Given the description of an element on the screen output the (x, y) to click on. 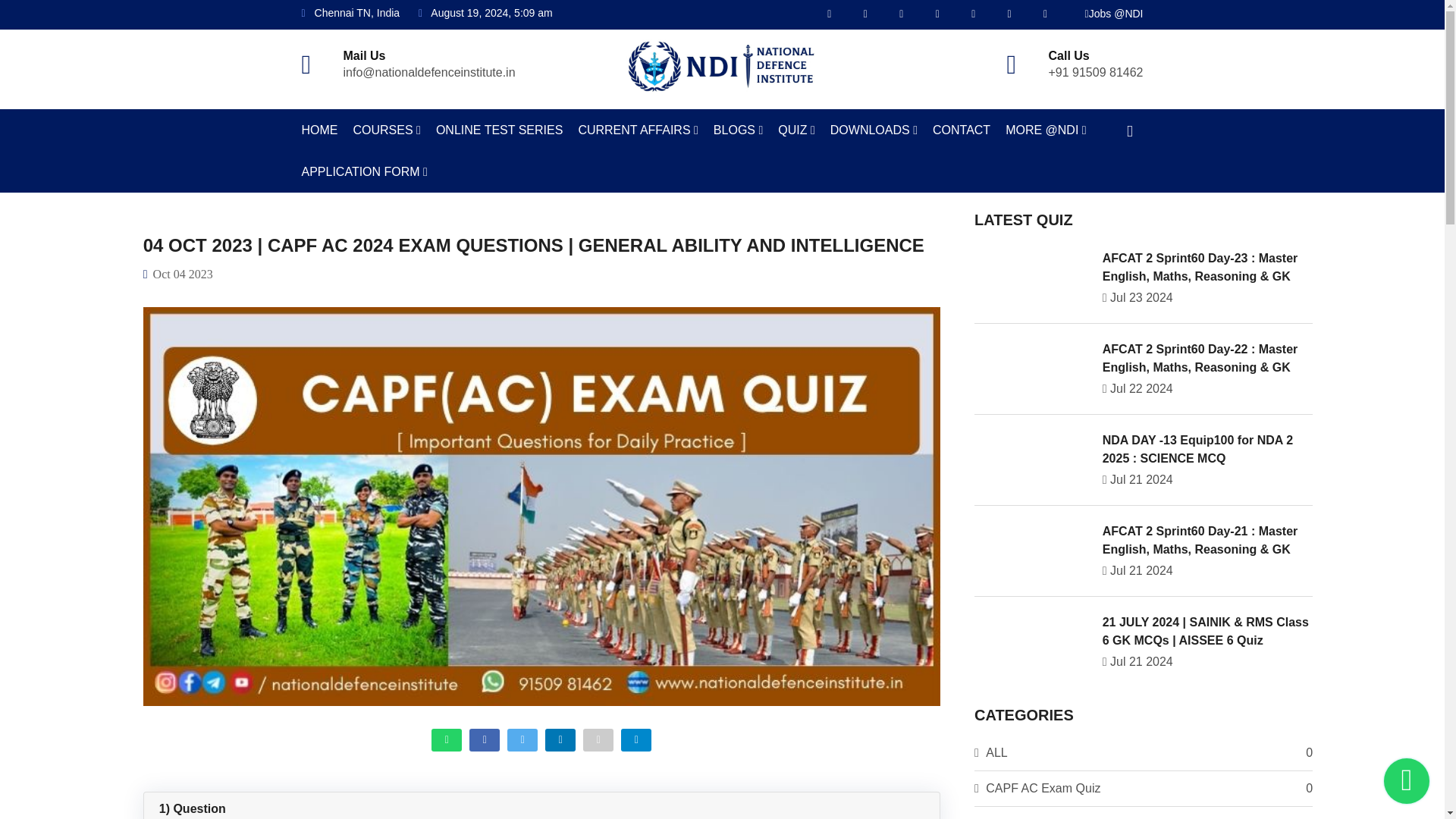
BLOGS (737, 129)
DOWNLOADS (873, 129)
CONTACT (961, 129)
ONLINE TEST SERIES (498, 129)
QUIZ (796, 129)
COURSES (386, 129)
CURRENT AFFAIRS (637, 129)
